Given the description of an element on the screen output the (x, y) to click on. 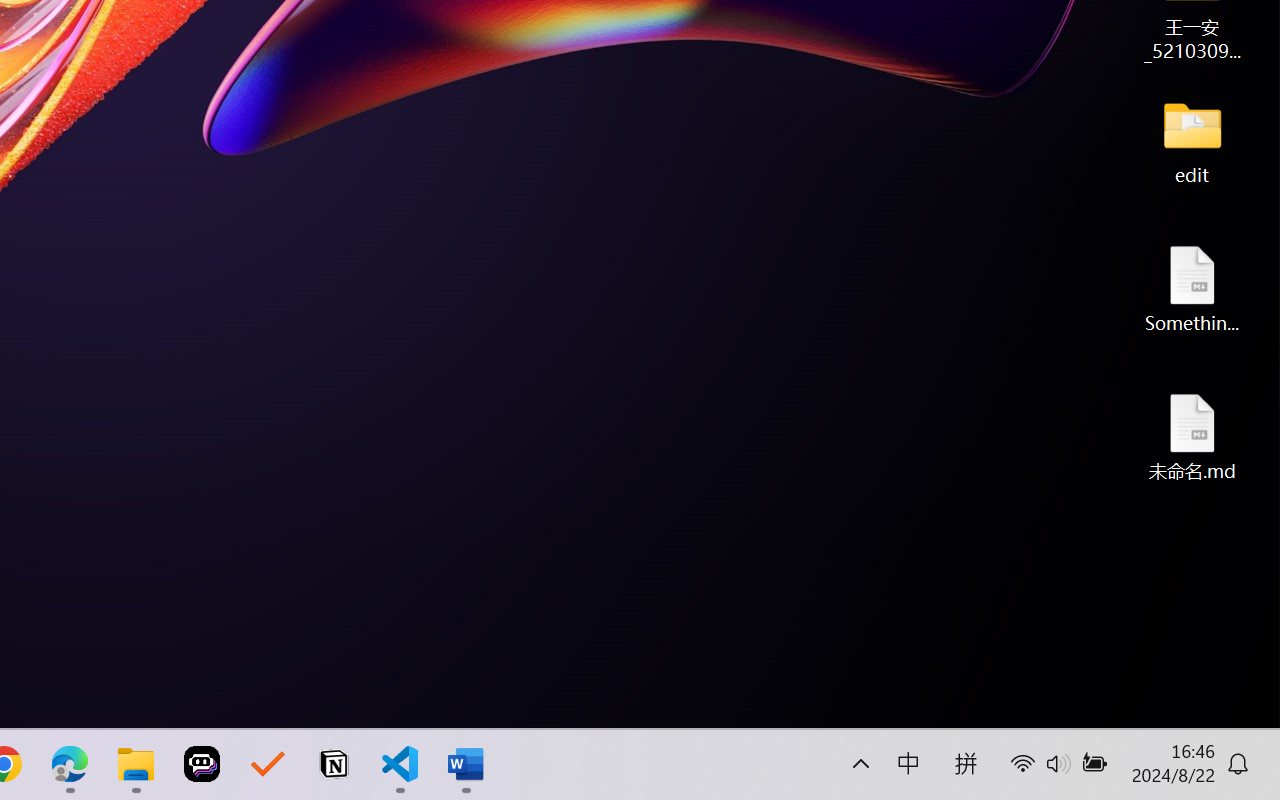
Something.md (1192, 288)
